Given the description of an element on the screen output the (x, y) to click on. 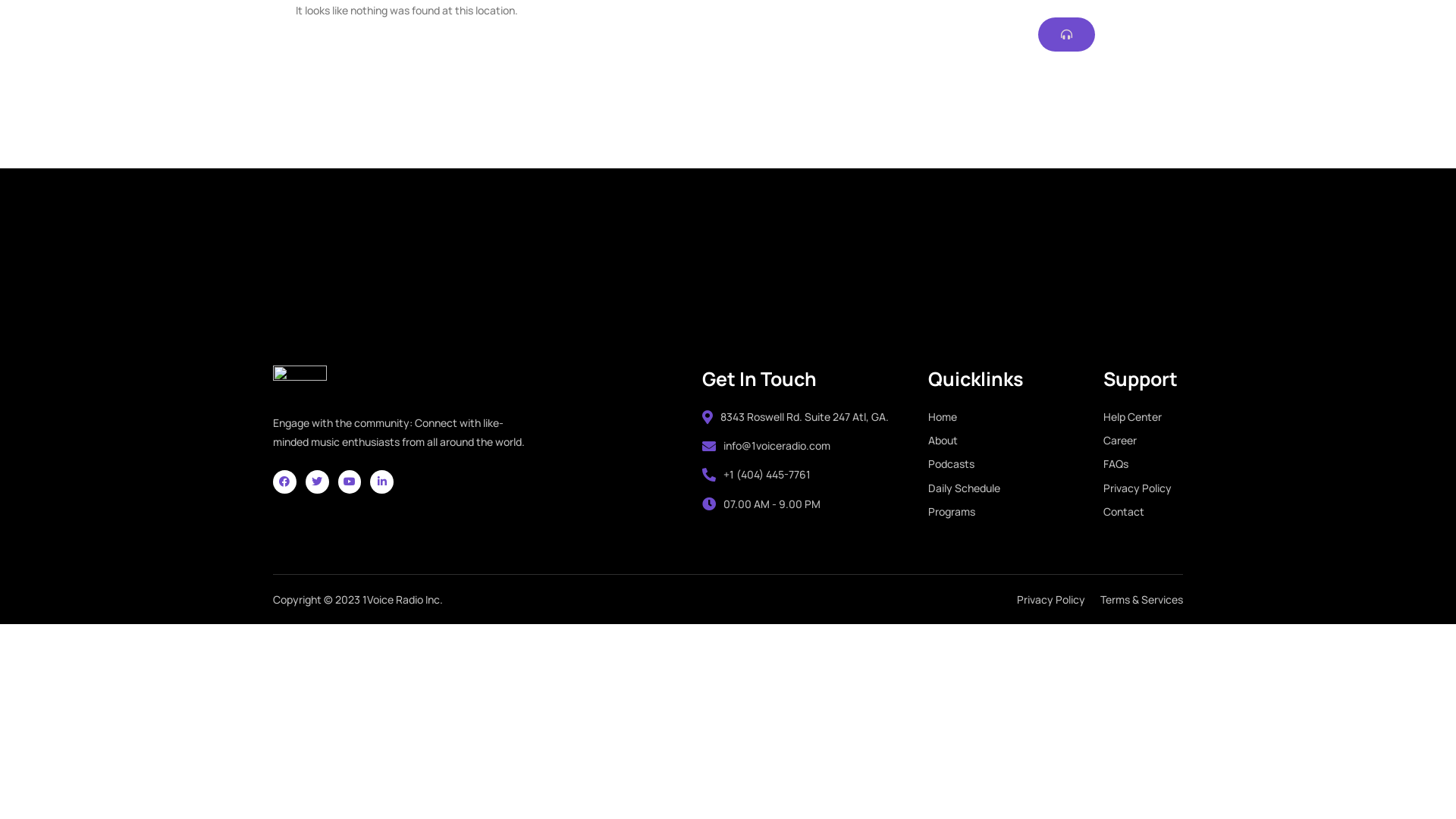
Home Element type: text (1015, 416)
About Element type: text (1015, 439)
Programs Element type: text (1015, 511)
Terms & Services Element type: text (1141, 598)
Privacy Policy Element type: text (1143, 487)
07.00 AM - 9.00 PM Element type: text (761, 503)
8343 Roswell Rd. Suite 247 Atl, GA. Element type: text (795, 416)
+1 (404) 445-7761 Element type: text (756, 473)
wpforms-submit Element type: text (911, 231)
info@1voiceradio.com Element type: text (766, 445)
Help Center Element type: text (1143, 416)
Privacy Policy Element type: text (1050, 598)
FAQs Element type: text (1143, 463)
Daily Schedule Element type: text (1015, 487)
Podcasts Element type: text (1015, 463)
Career Element type: text (1143, 439)
Contact Element type: text (1143, 511)
